Given the description of an element on the screen output the (x, y) to click on. 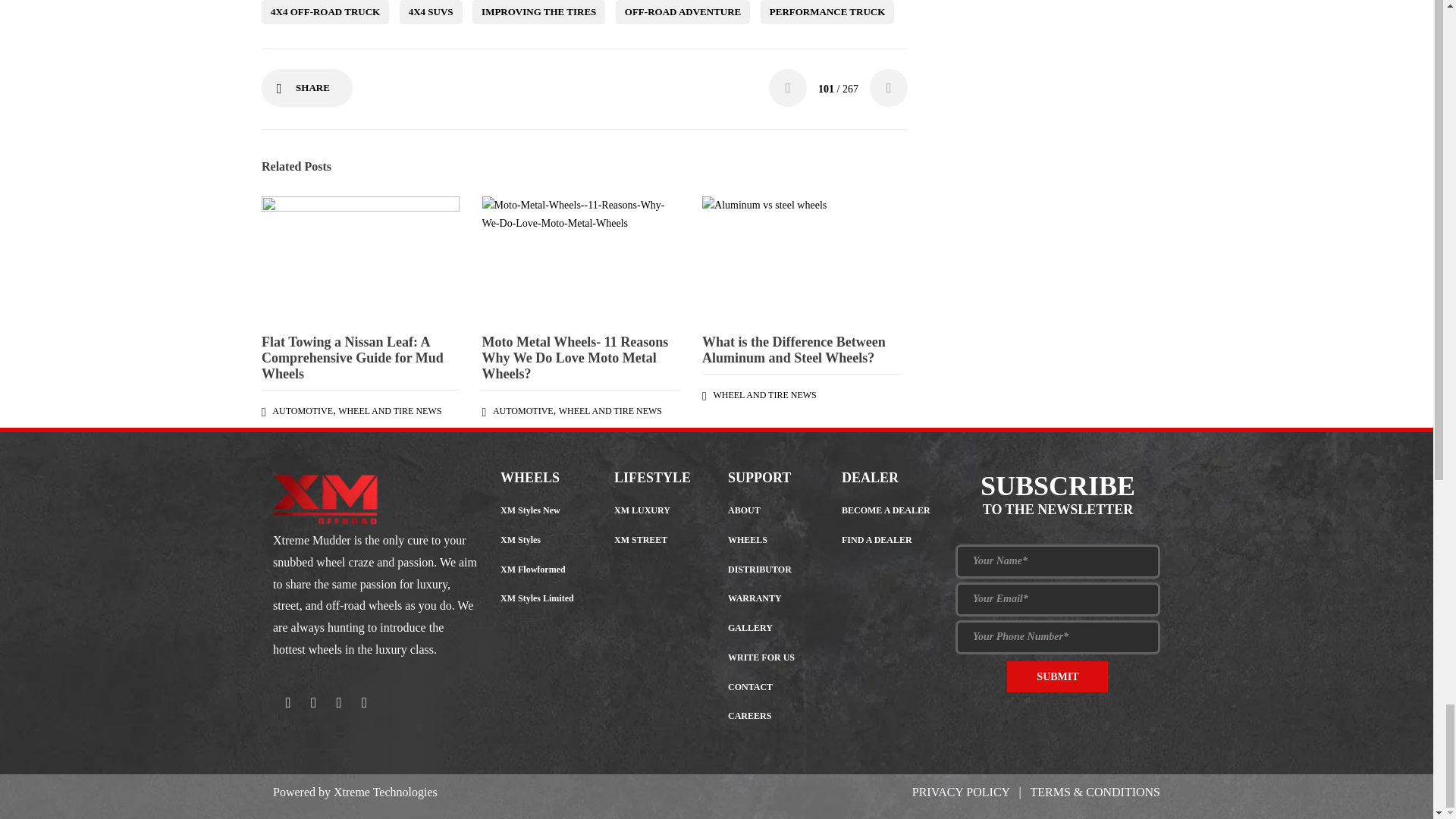
4X4 OFF-ROAD TRUCK (325, 12)
OFF-ROAD ADVENTURE (682, 12)
SUBMIT (1057, 676)
IMPROVING THE TIRES (538, 12)
WHEEL AND TIRE NEWS (389, 410)
PERFORMANCE TRUCK (827, 12)
AUTOMOTIVE (302, 410)
4X4 SUVS (430, 12)
